Given the description of an element on the screen output the (x, y) to click on. 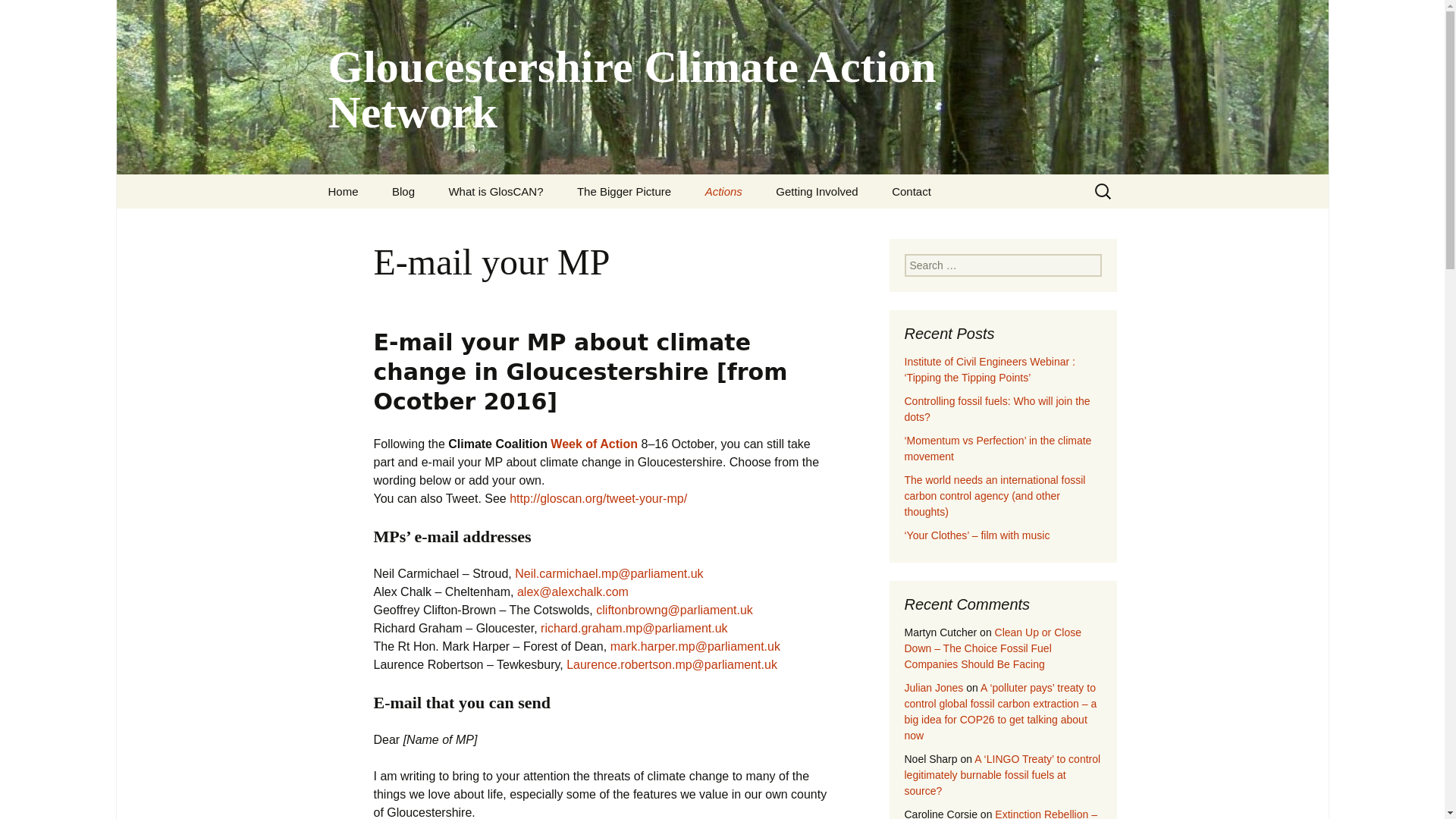
Blog (403, 191)
How to submit a blog or comment (452, 230)
Home (342, 191)
The Bigger Picture (623, 191)
What is GlosCAN? (494, 191)
Newsletters (388, 225)
